Given the description of an element on the screen output the (x, y) to click on. 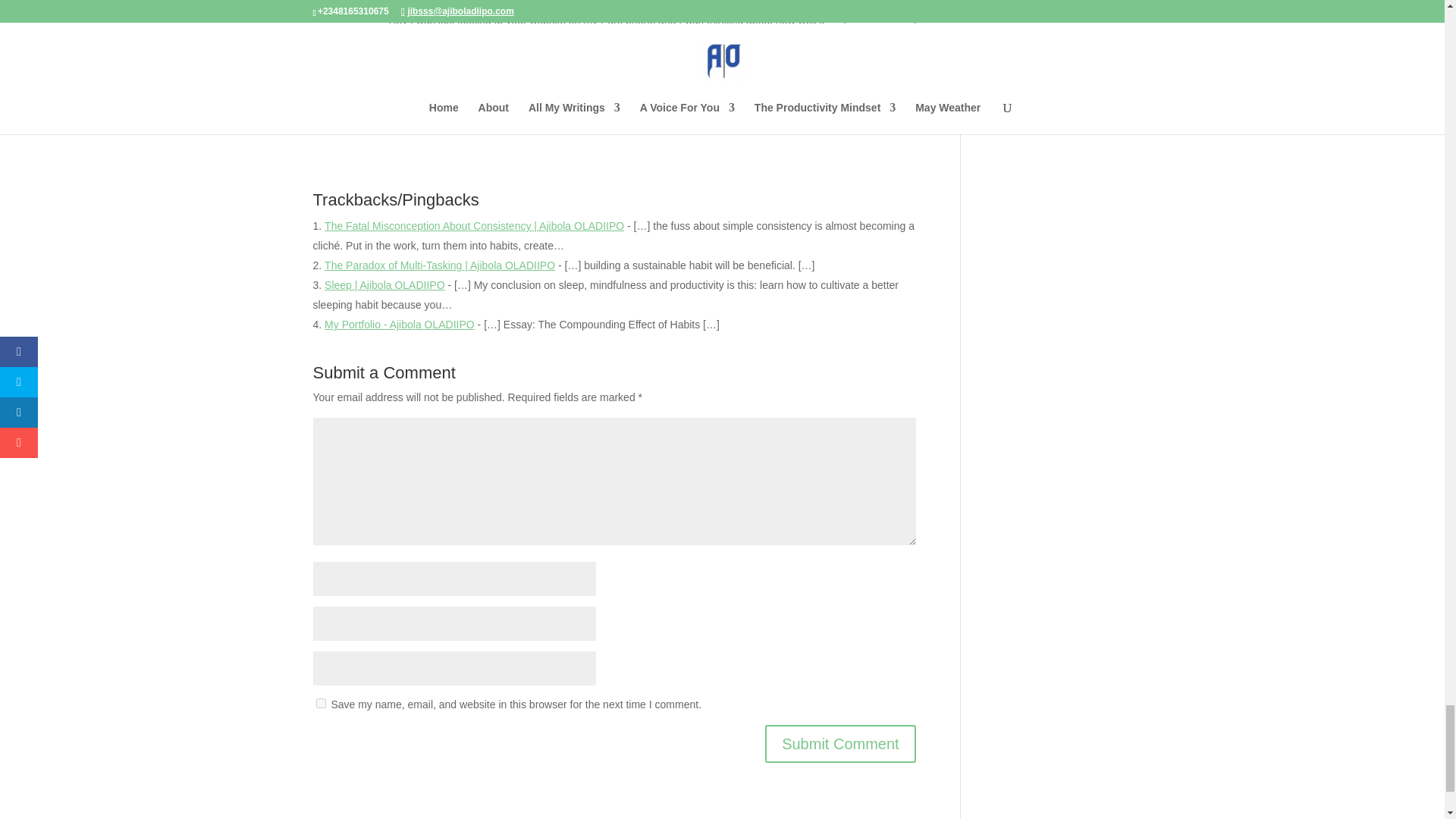
Submit Comment (840, 743)
yes (319, 703)
